Given the description of an element on the screen output the (x, y) to click on. 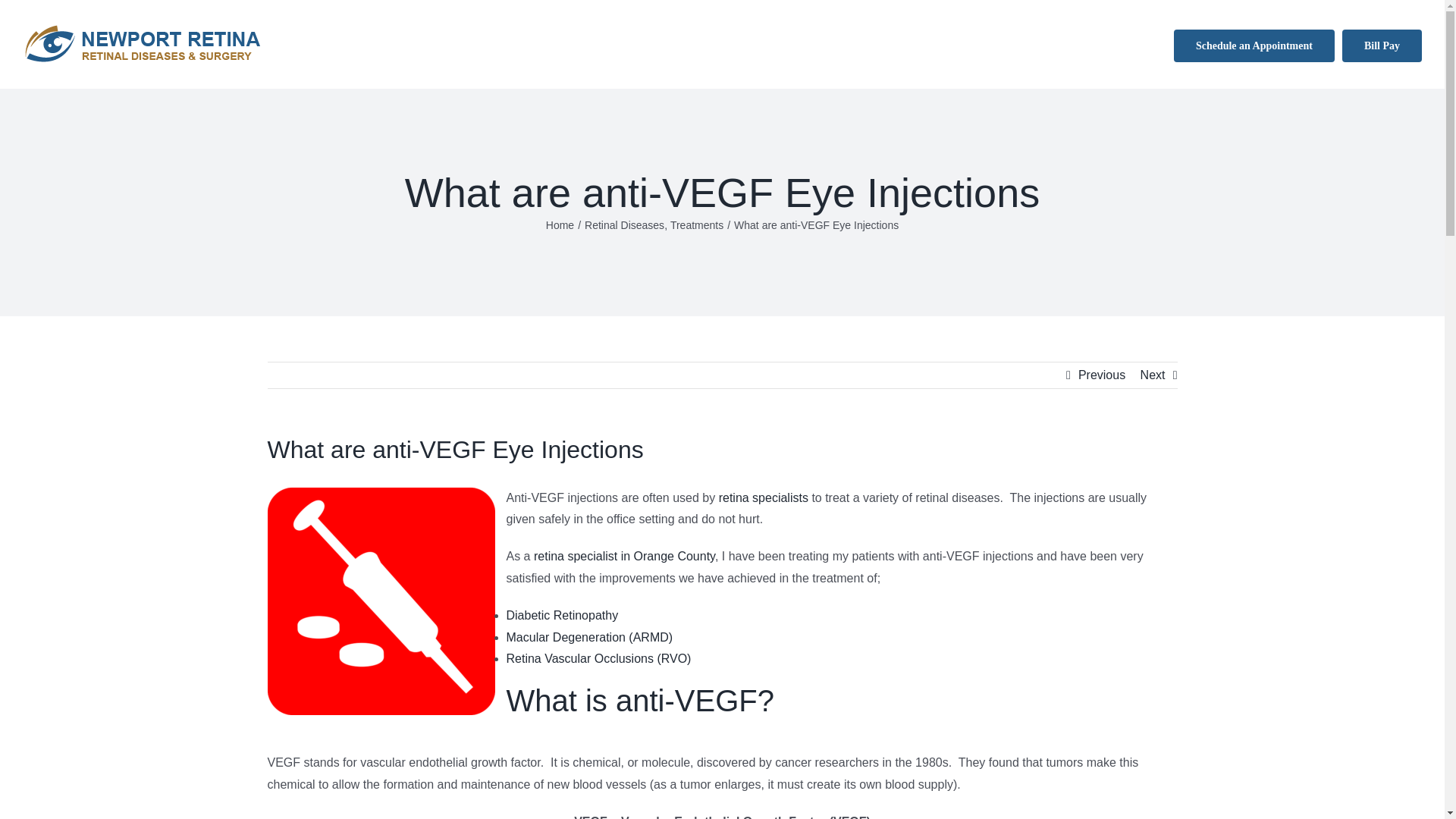
Home (559, 224)
retina specialists (762, 497)
Treatments (696, 224)
retina specialist in Orange County (624, 555)
Schedule an Appointment (1254, 44)
Previous (1101, 375)
Diabetic Retinopathy (562, 615)
Next (1153, 375)
Bill Pay (1382, 44)
Retinal Diseases (624, 224)
